Given the description of an element on the screen output the (x, y) to click on. 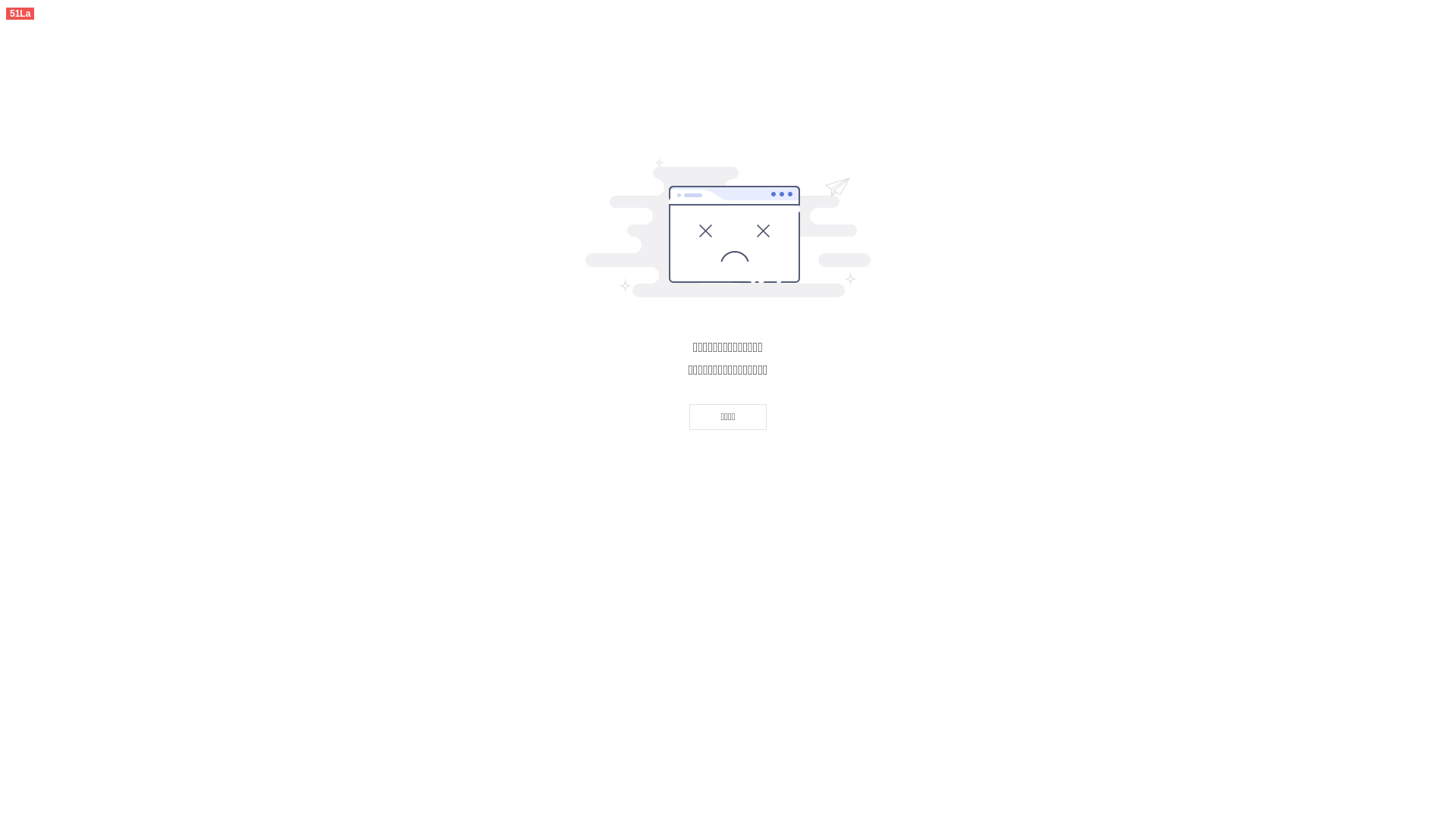
51La Element type: text (20, 12)
